Given the description of an element on the screen output the (x, y) to click on. 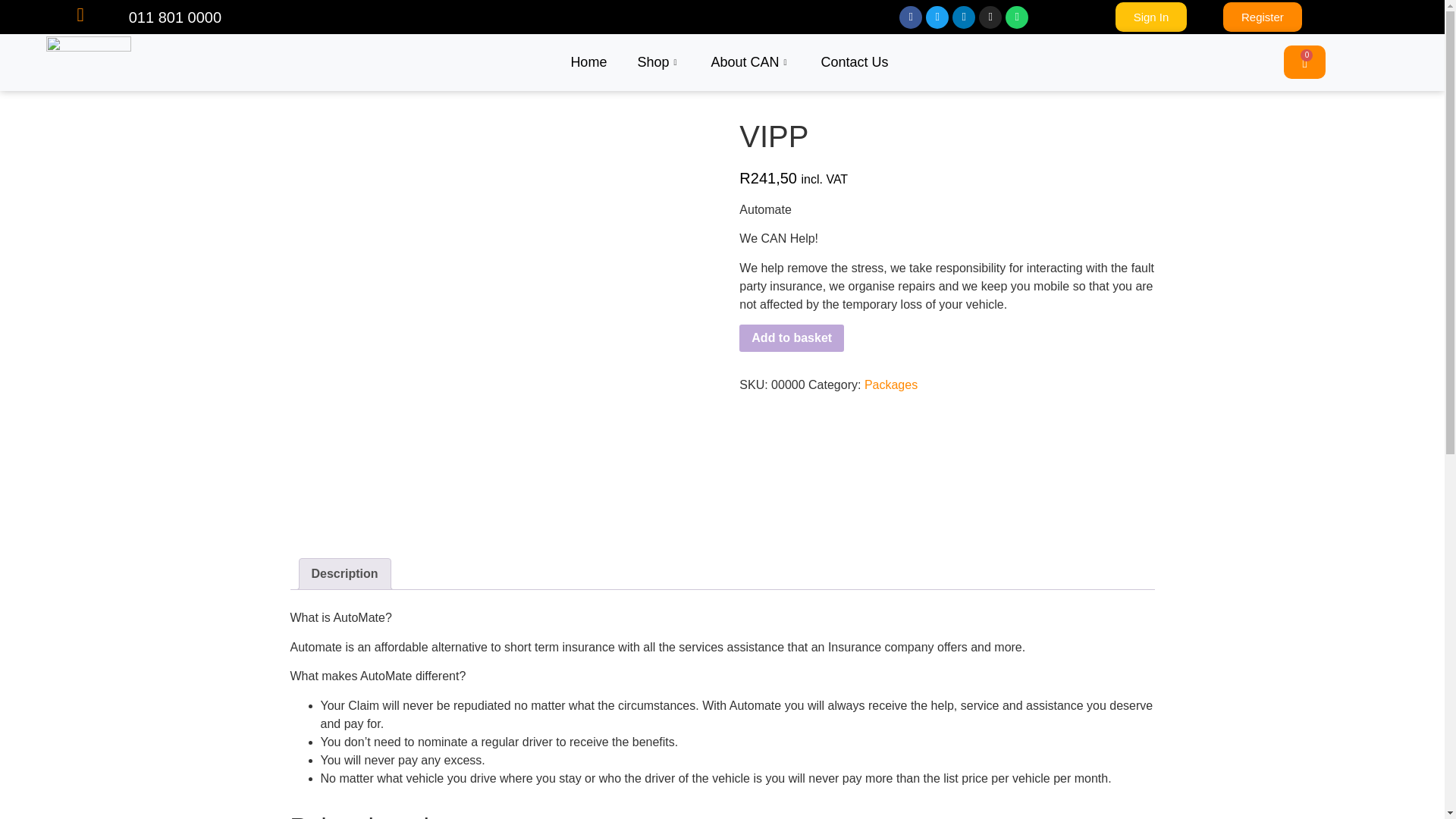
Register (1262, 16)
Description (344, 573)
0 (1304, 61)
Add to basket (791, 338)
Packages (890, 384)
Sign In (1151, 16)
Contact Us (855, 62)
Home (587, 62)
About CAN (750, 62)
Shop (658, 62)
